Given the description of an element on the screen output the (x, y) to click on. 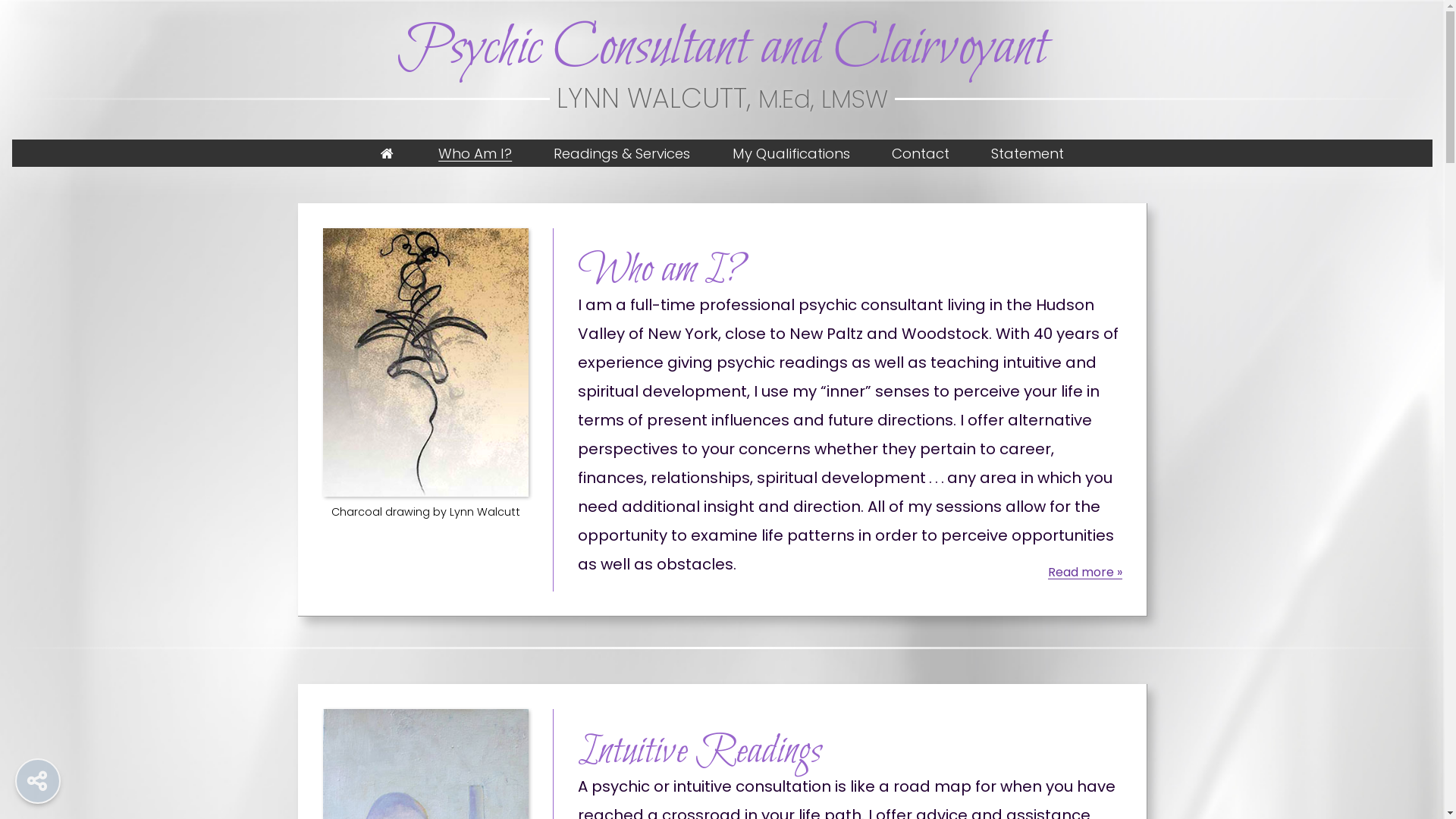
Readings & Services Element type: text (622, 152)
Statement Element type: text (1026, 152)
Contact Element type: text (919, 152)
My Qualifications Element type: text (790, 152)
Who Am I? Element type: text (475, 152)
